Given the description of an element on the screen output the (x, y) to click on. 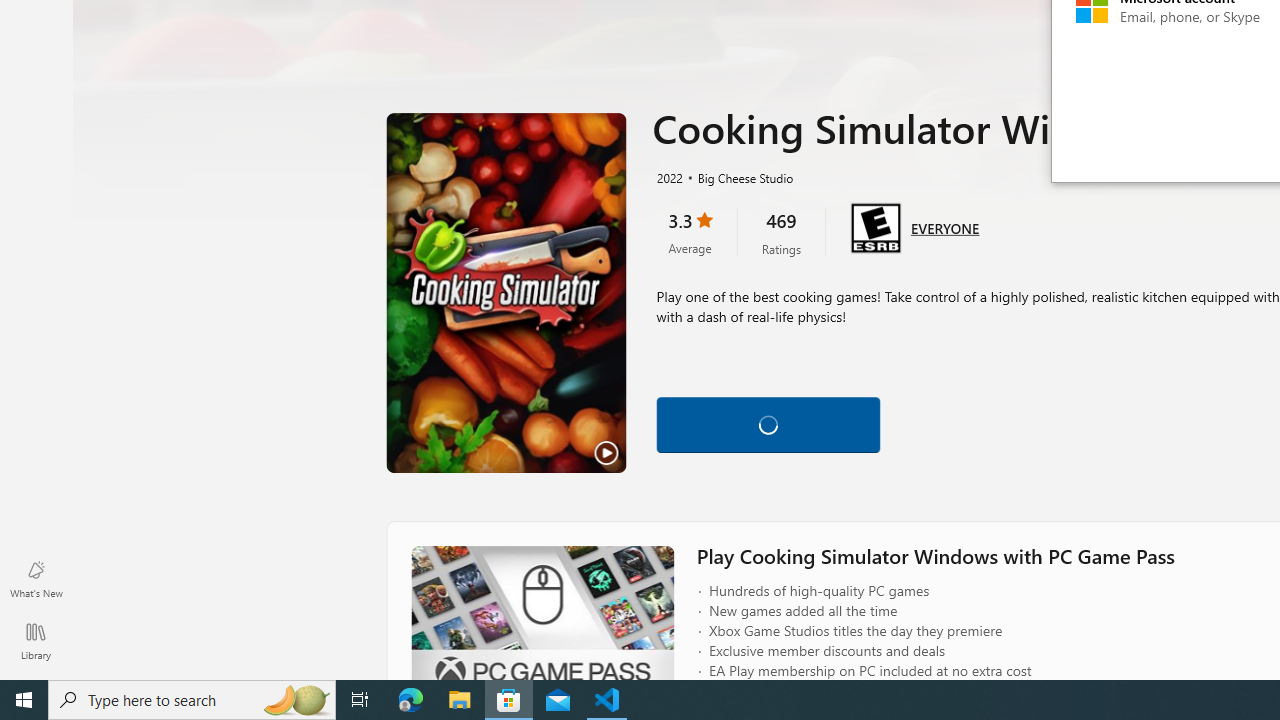
File Explorer (460, 699)
Big Cheese Studio (737, 177)
Age rating: EVERYONE. Click for more information. (945, 226)
